Given the description of an element on the screen output the (x, y) to click on. 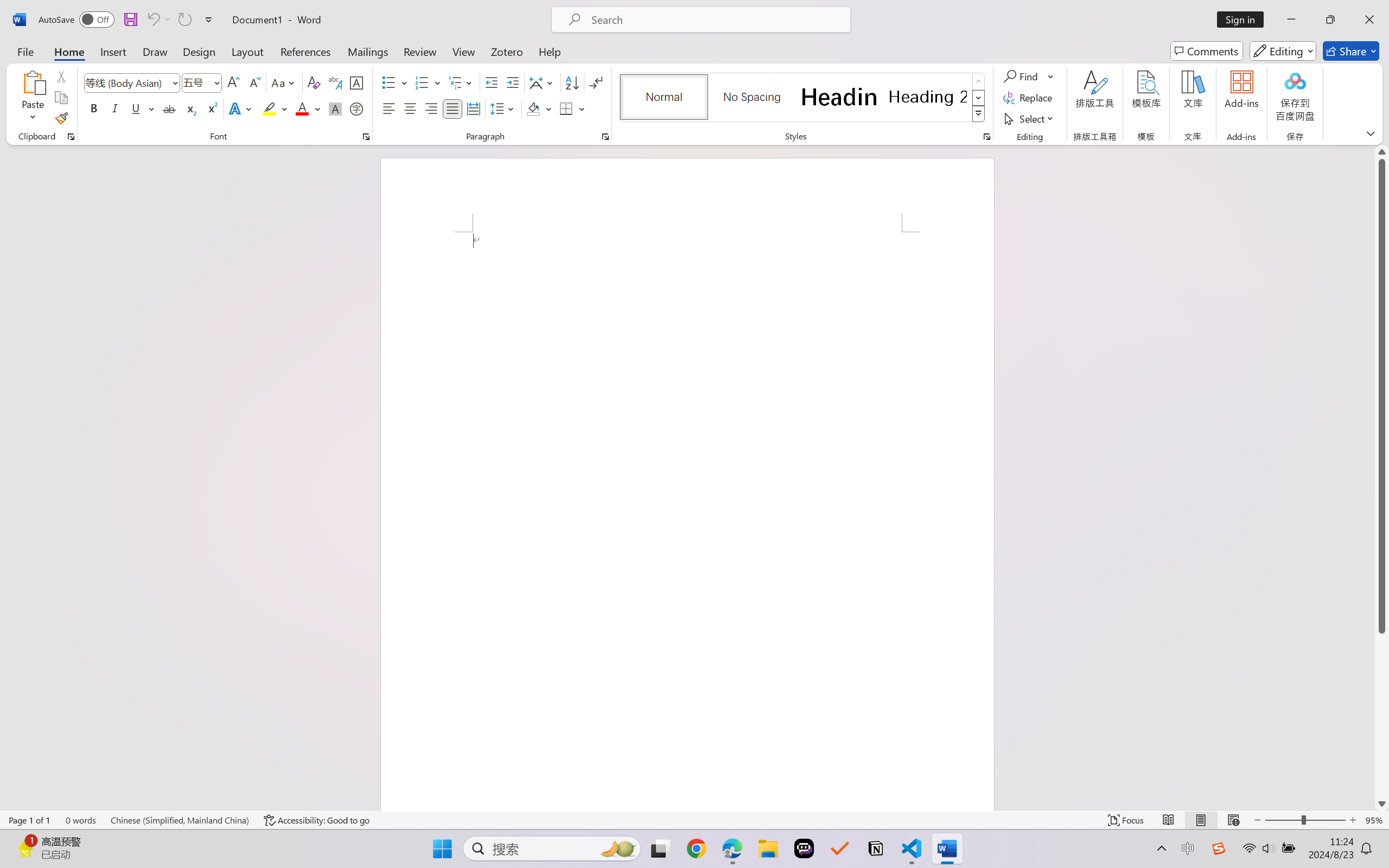
Sign in (1244, 19)
